Given the description of an element on the screen output the (x, y) to click on. 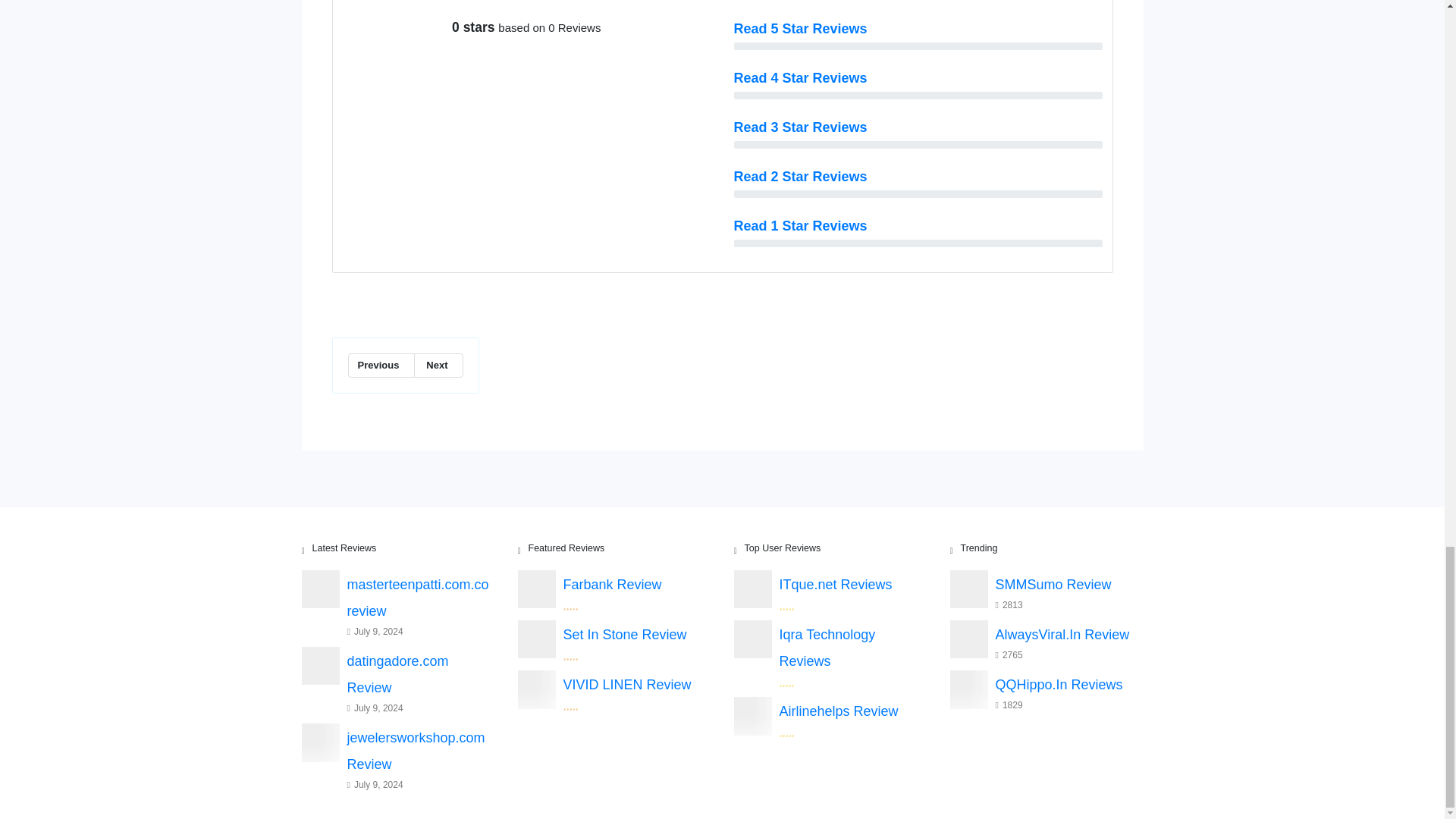
Read 5 Star Reviews (800, 28)
Read 4 Star Reviews (800, 77)
